Given the description of an element on the screen output the (x, y) to click on. 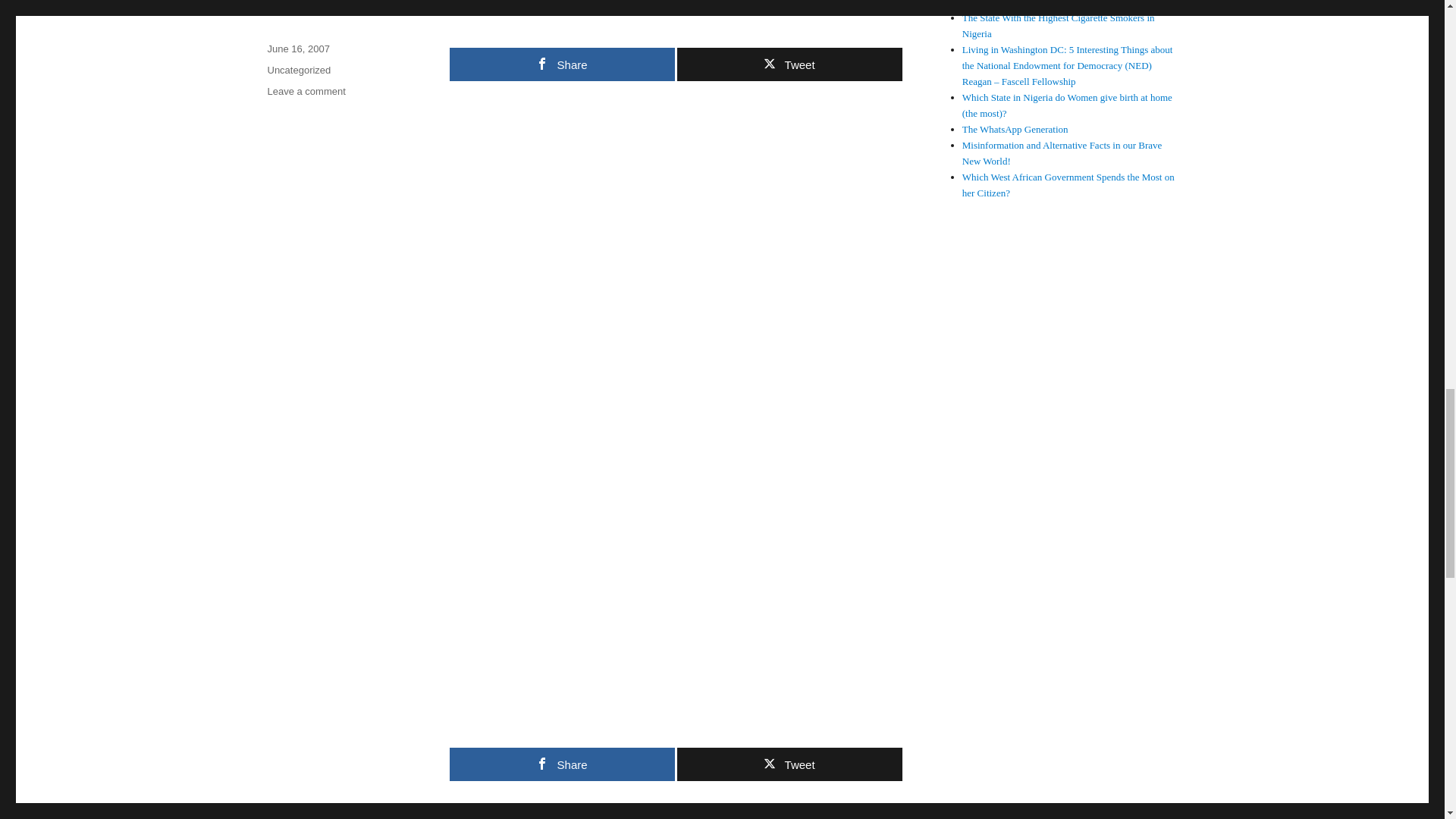
Share (561, 764)
Tweet (789, 764)
Tweet (789, 64)
Uncategorized (298, 70)
Share (561, 64)
June 16, 2007 (297, 48)
